Given the description of an element on the screen output the (x, y) to click on. 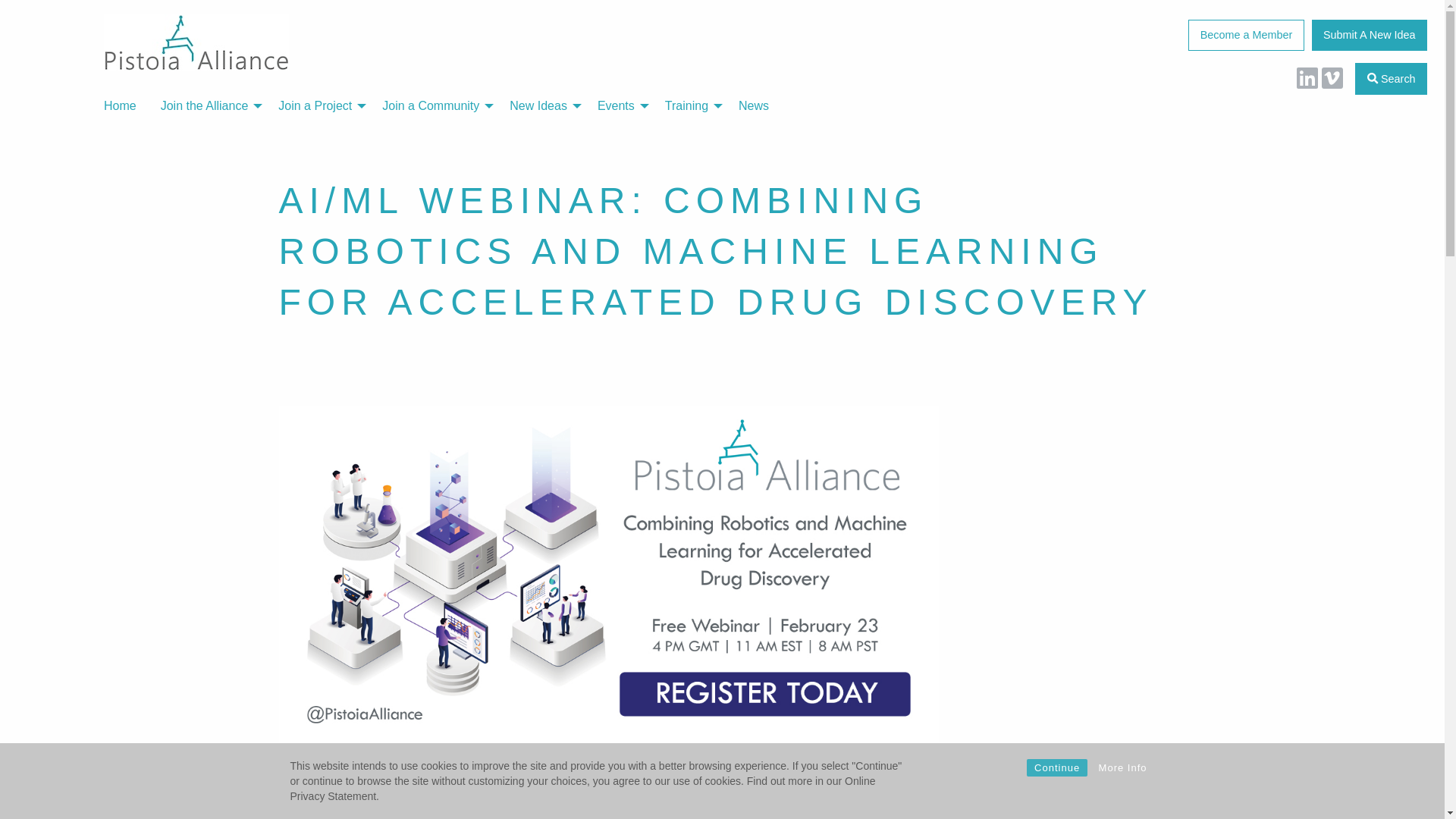
Continue (1056, 767)
More Info (1122, 767)
